Given the description of an element on the screen output the (x, y) to click on. 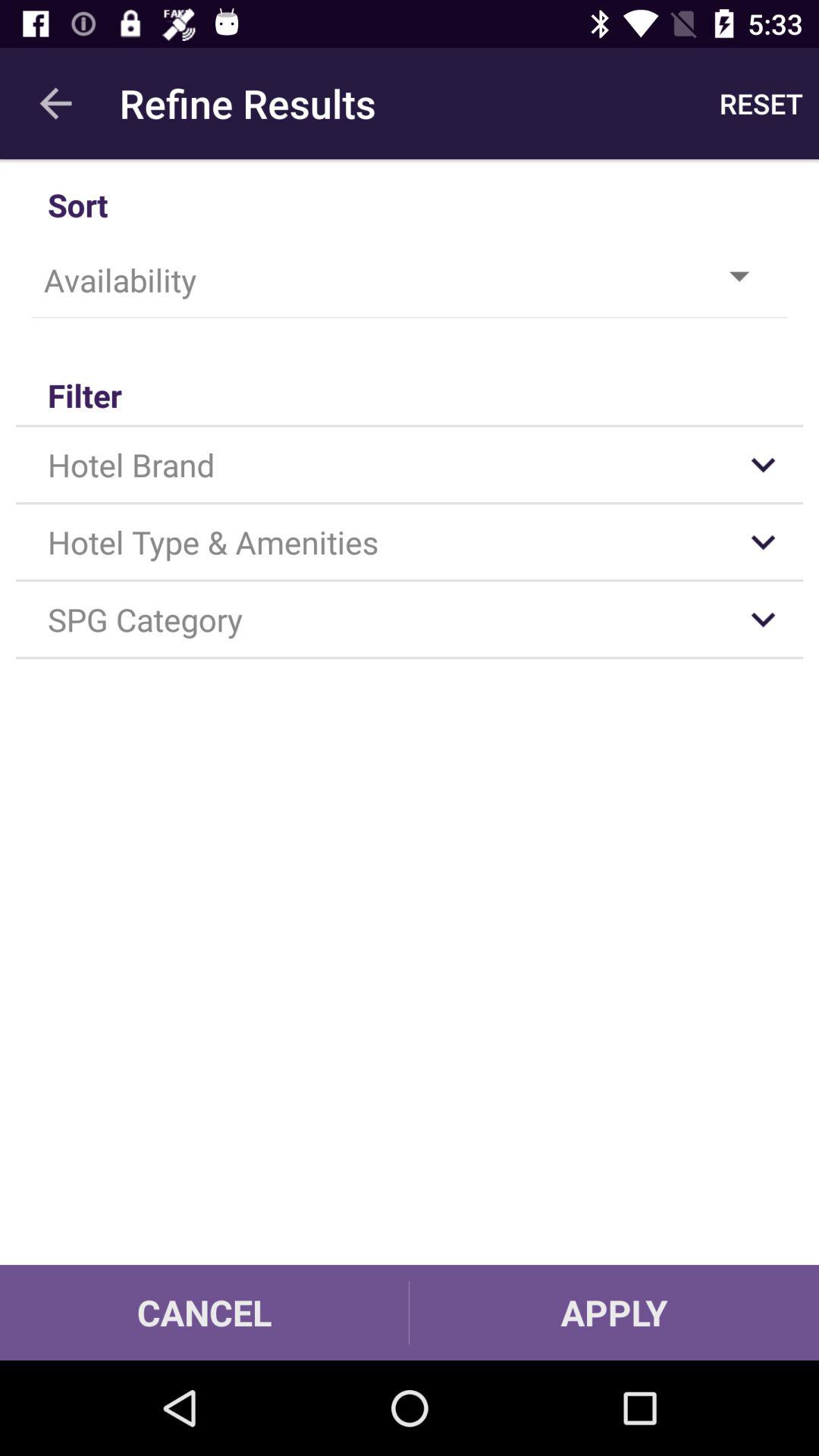
jump until reset icon (761, 103)
